Given the description of an element on the screen output the (x, y) to click on. 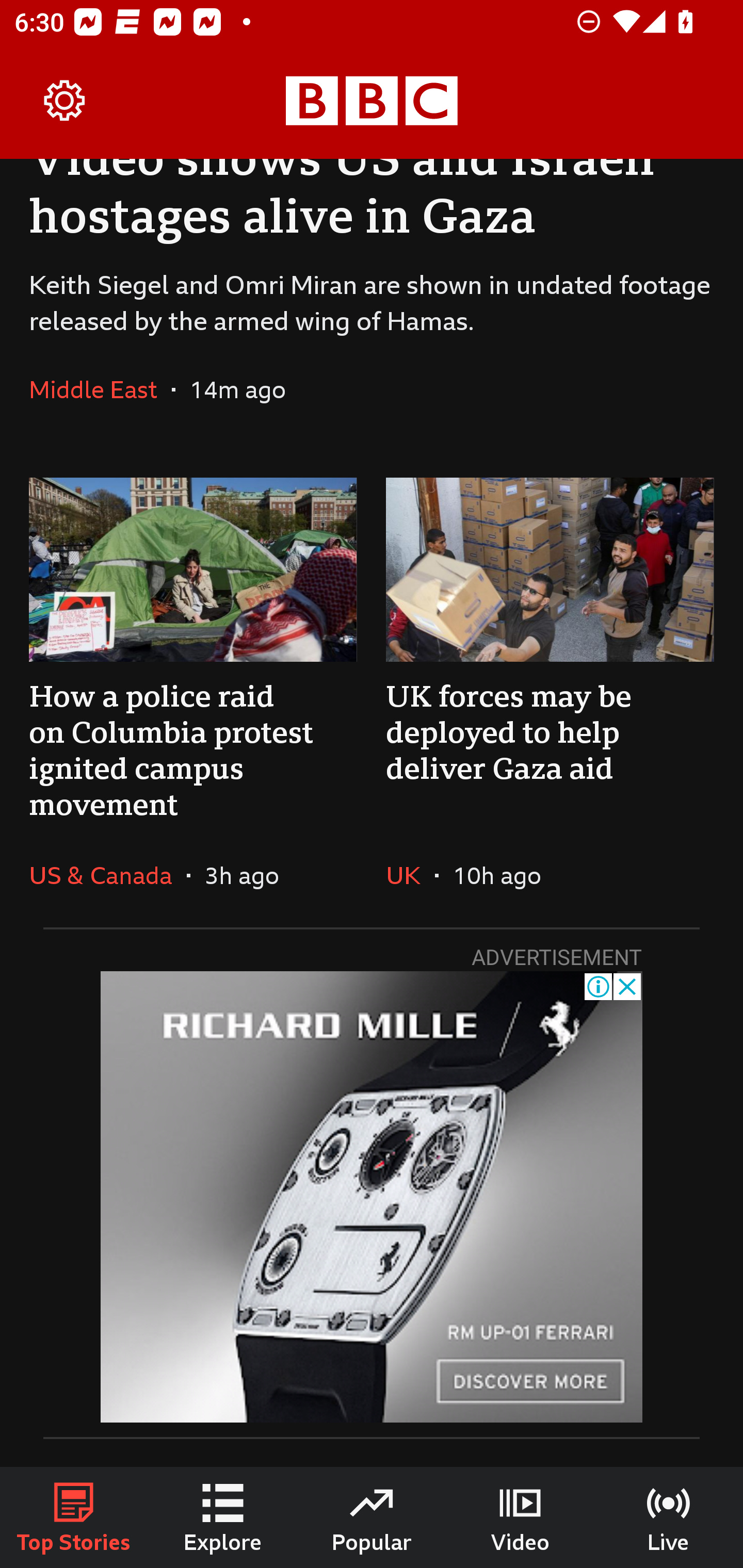
Settings (64, 100)
Middle East In the section Middle East (99, 389)
US & Canada In the section US & Canada (107, 874)
UK In the section UK (409, 874)
Explore (222, 1517)
Popular (371, 1517)
Video (519, 1517)
Live (668, 1517)
